Given the description of an element on the screen output the (x, y) to click on. 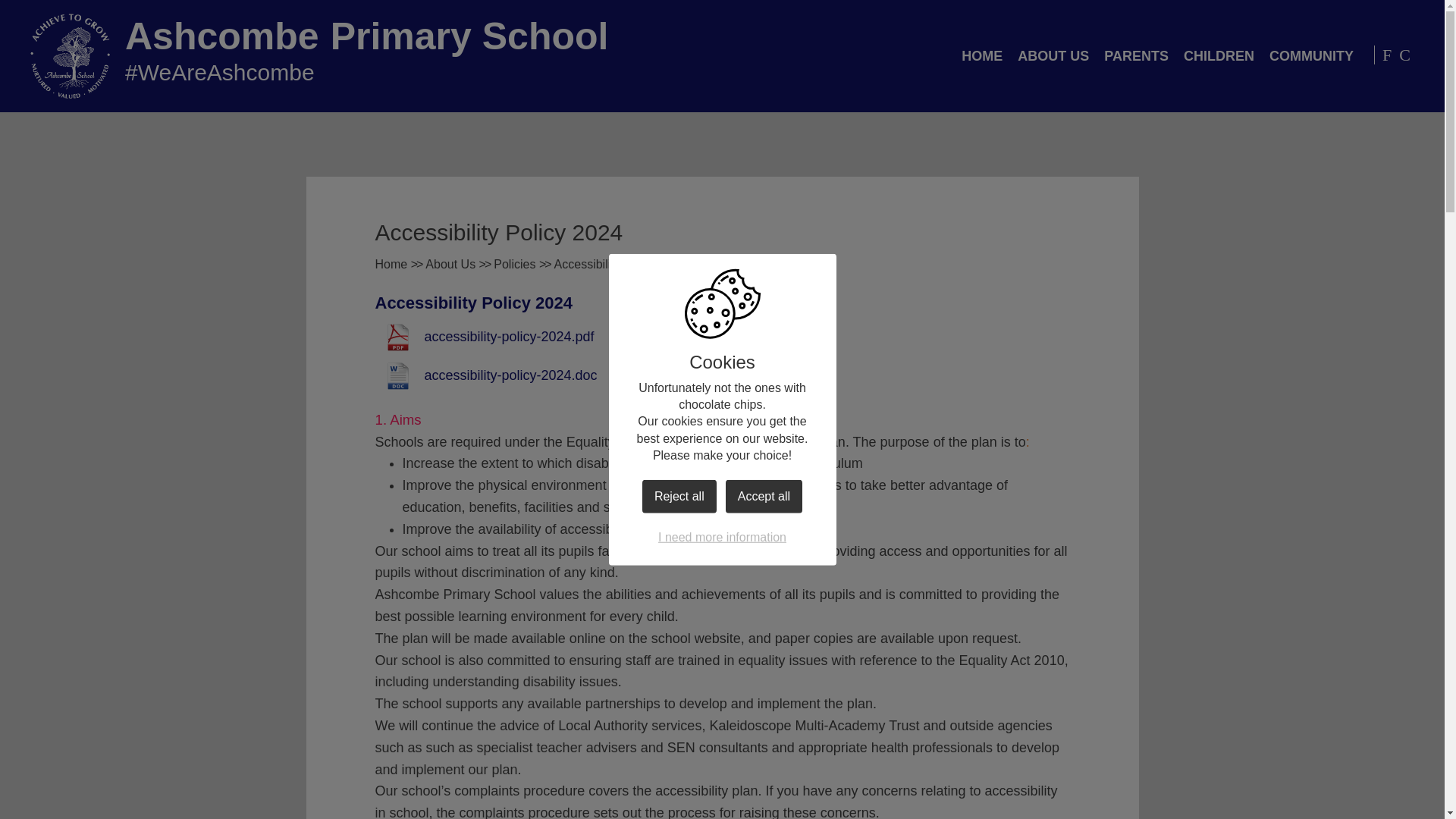
Home Page (70, 55)
HOME (981, 56)
ABOUT US (1053, 56)
